Given the description of an element on the screen output the (x, y) to click on. 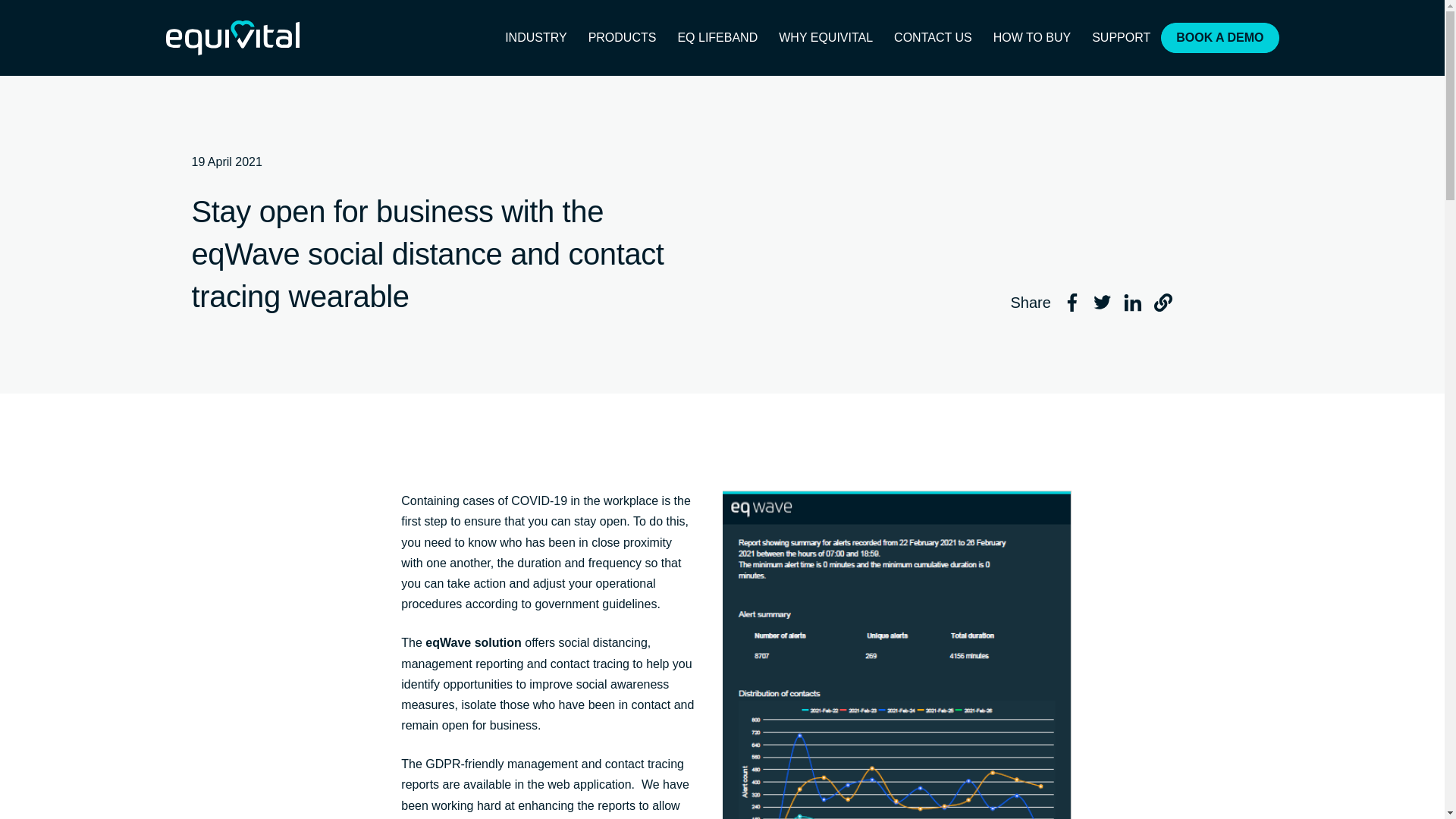
eqWave solution (473, 643)
EQ LIFEBAND (717, 38)
CONTACT US (932, 38)
SUPPORT (1120, 38)
WHY EQUIVITAL (825, 38)
BOOK A DEMO (1219, 37)
HOW TO BUY (1031, 38)
